Given the description of an element on the screen output the (x, y) to click on. 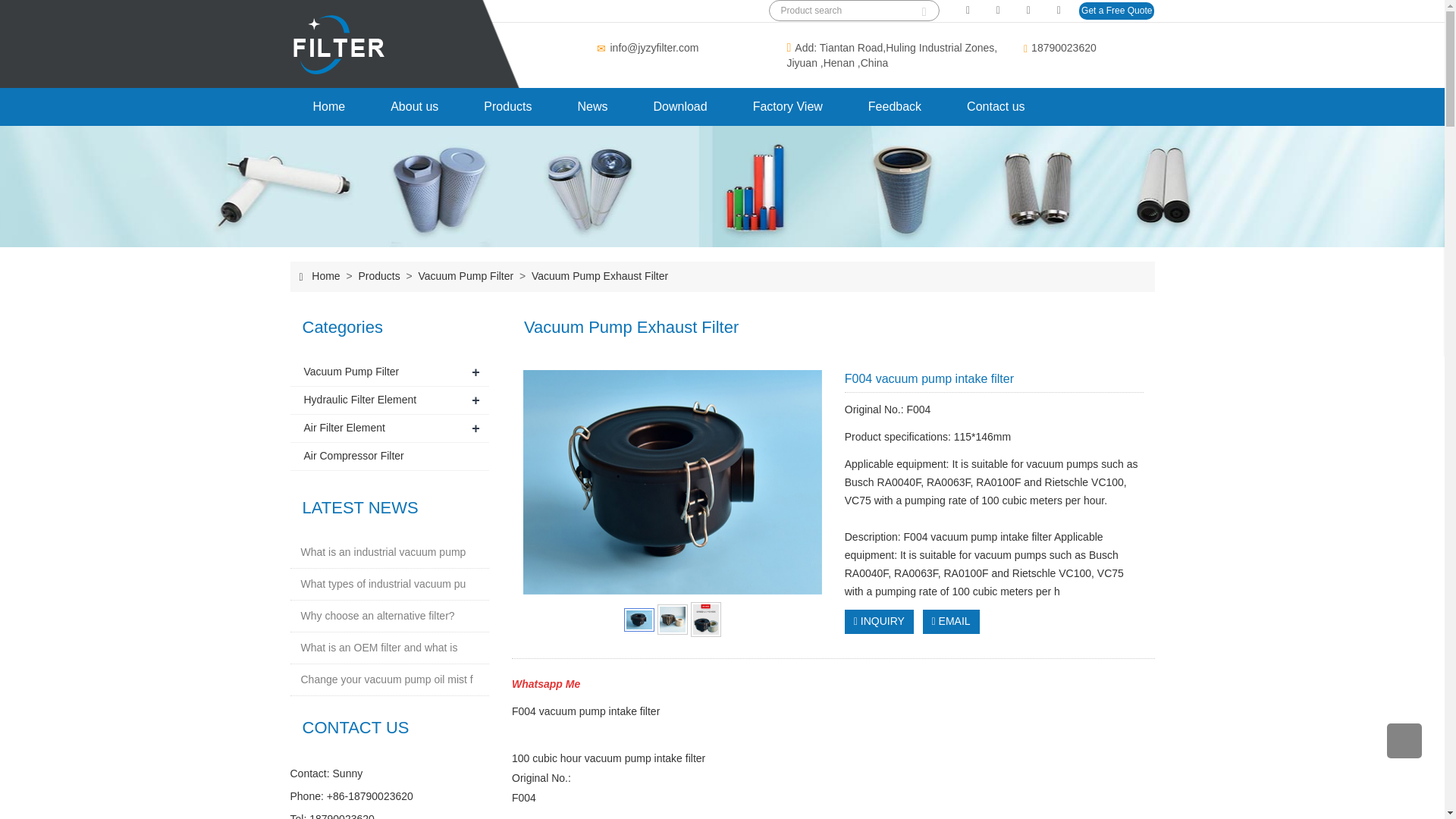
News (592, 106)
Products (379, 275)
What is an OEM filter and what is an alternative filter? (378, 647)
Get a Free Quote (1116, 10)
Why choose an alternative filter? (376, 616)
What types of industrial vacuum pump filters are available? (382, 584)
Whatsapp Me (545, 684)
Home (328, 106)
Feedback (894, 106)
About us (414, 106)
Products search (924, 7)
Next (801, 482)
Home (325, 275)
Products (507, 106)
What is an industrial vacuum pump filter? (382, 552)
